Given the description of an element on the screen output the (x, y) to click on. 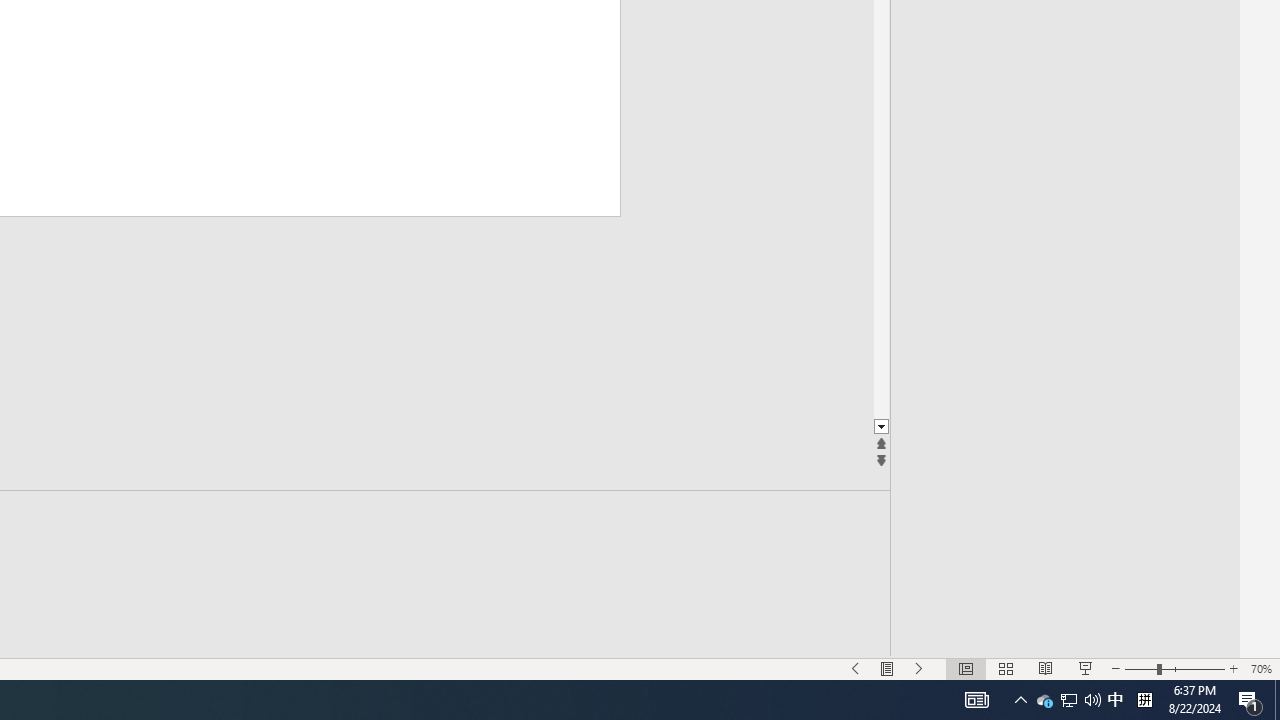
Slide Show Previous On (855, 668)
Menu On (887, 668)
Zoom 70% (1261, 668)
Slide Show Next On (919, 668)
